Given the description of an element on the screen output the (x, y) to click on. 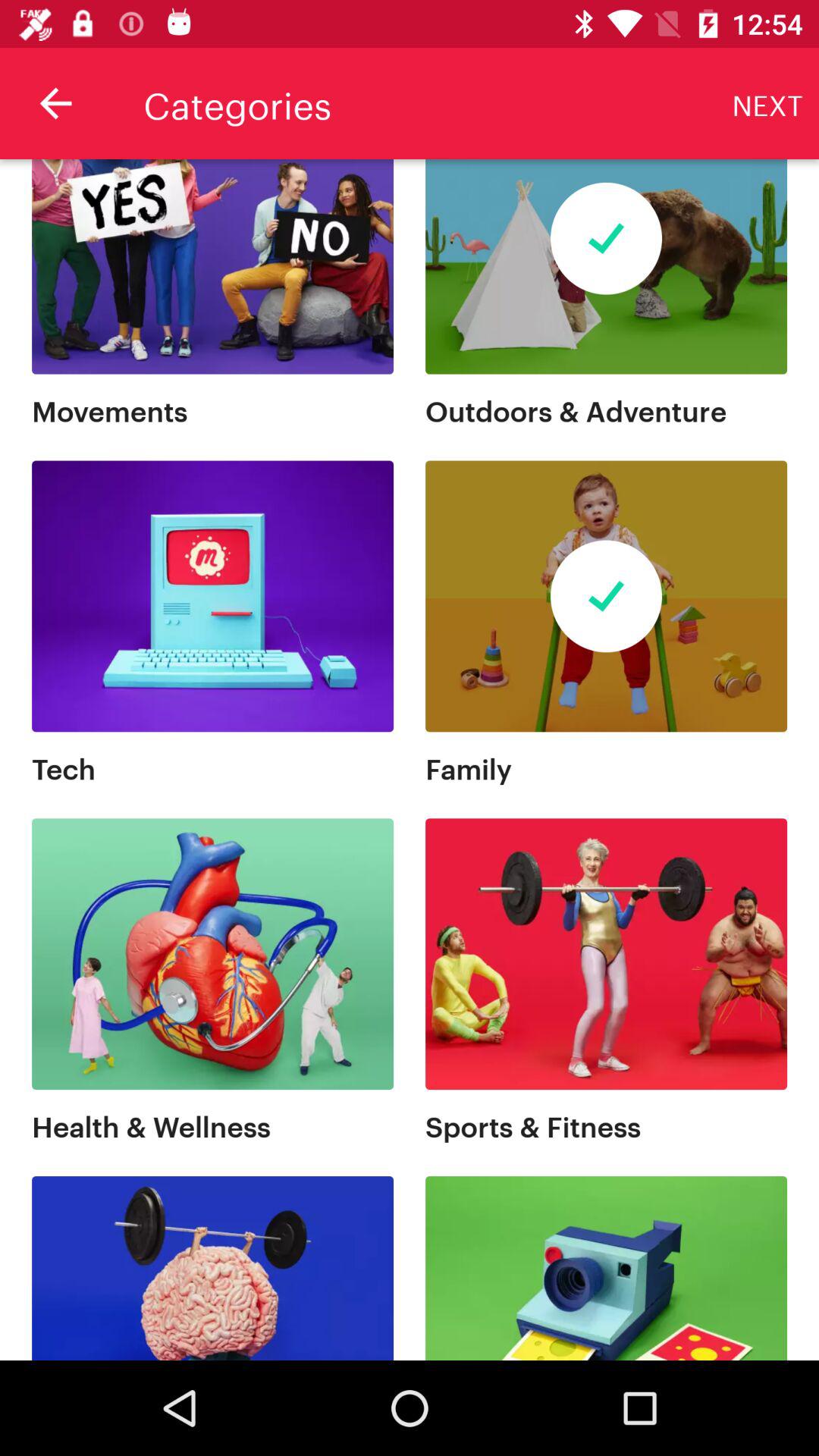
turn on item to the left of categories icon (55, 103)
